Given the description of an element on the screen output the (x, y) to click on. 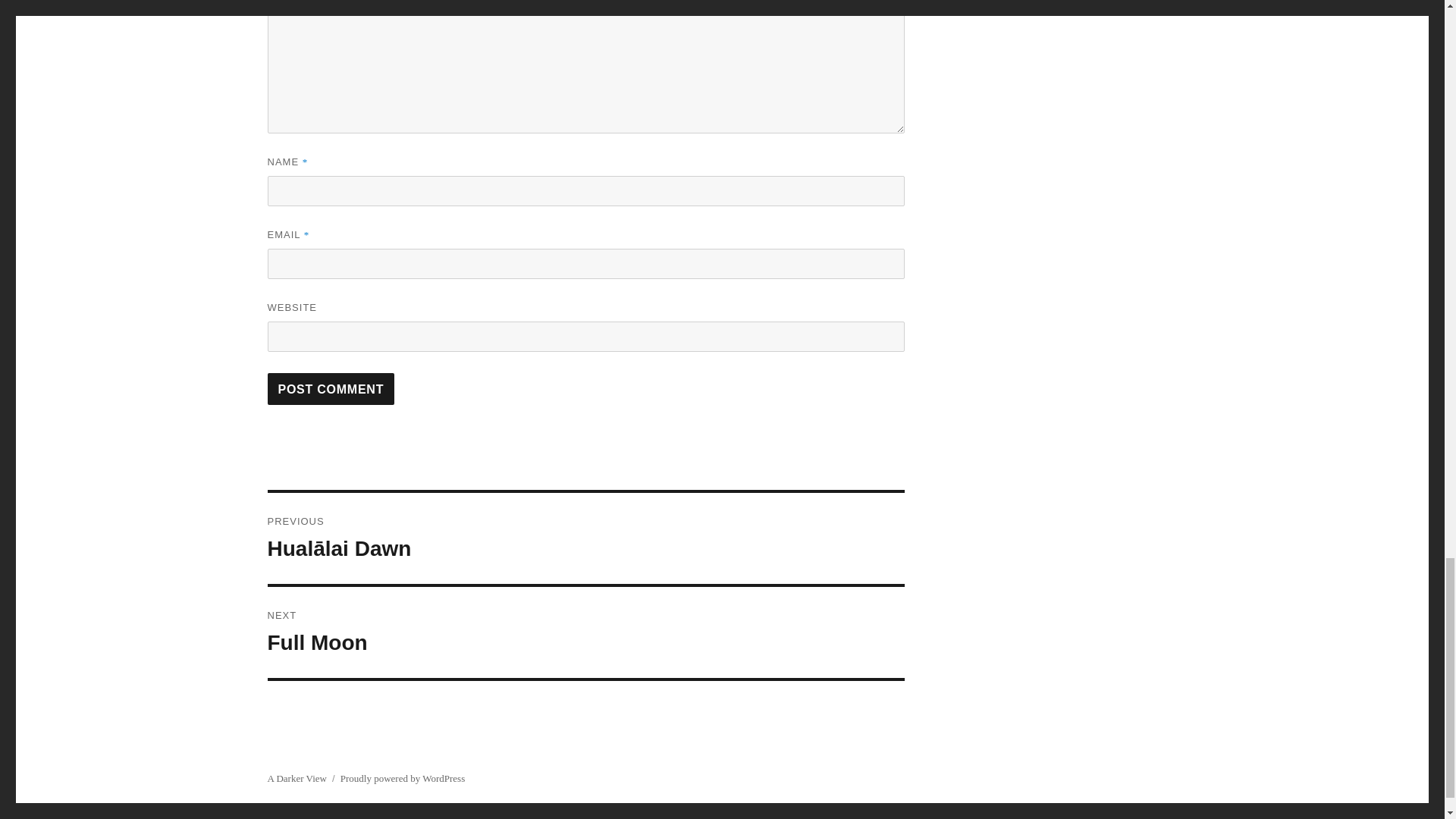
Post Comment (330, 388)
Post Comment (330, 388)
